Given the description of an element on the screen output the (x, y) to click on. 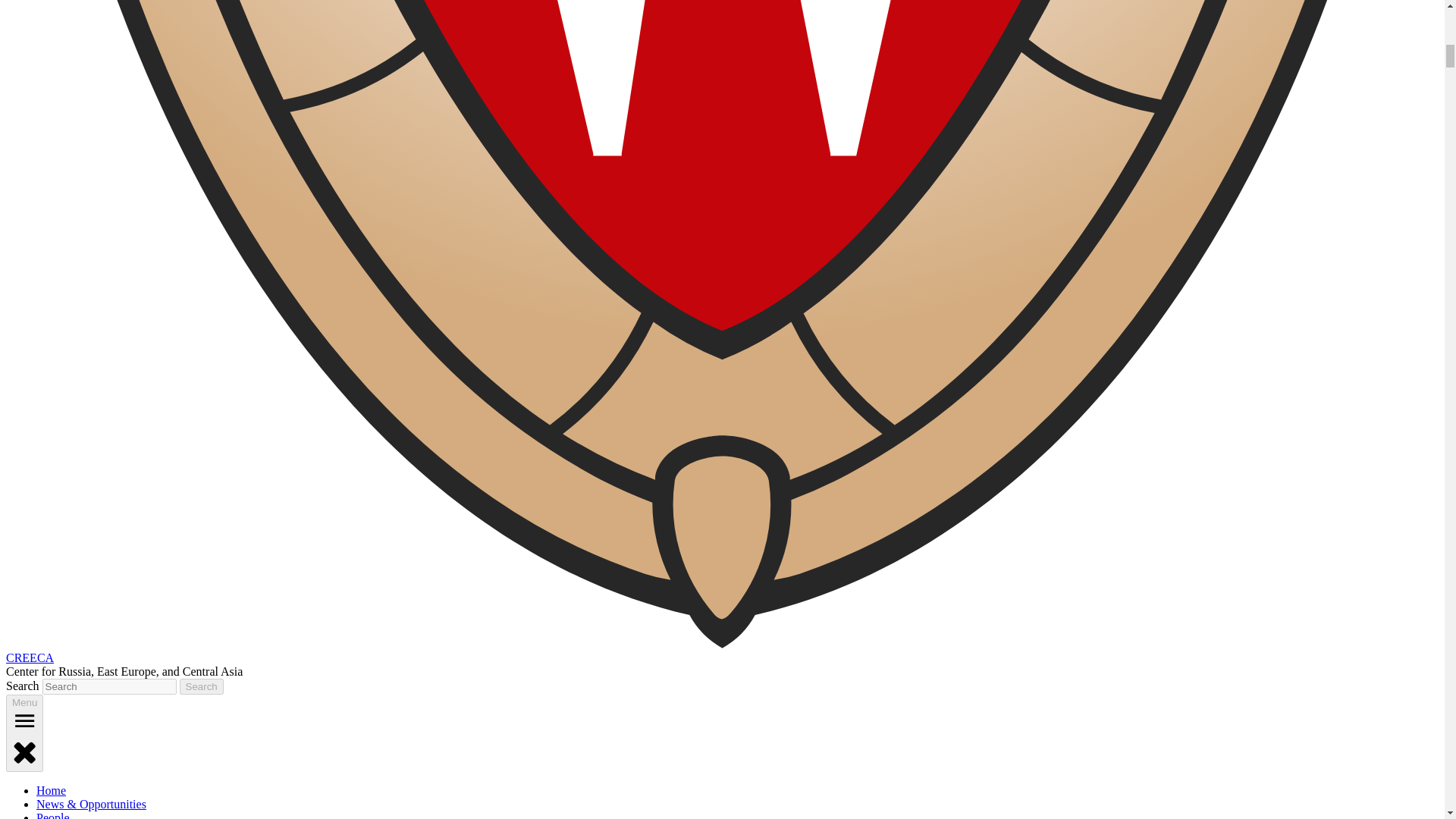
Menu open menu close (24, 733)
Search (201, 686)
Home (50, 789)
Search (201, 686)
open menu (24, 720)
CREECA (29, 657)
Search (201, 686)
close (24, 751)
